Given the description of an element on the screen output the (x, y) to click on. 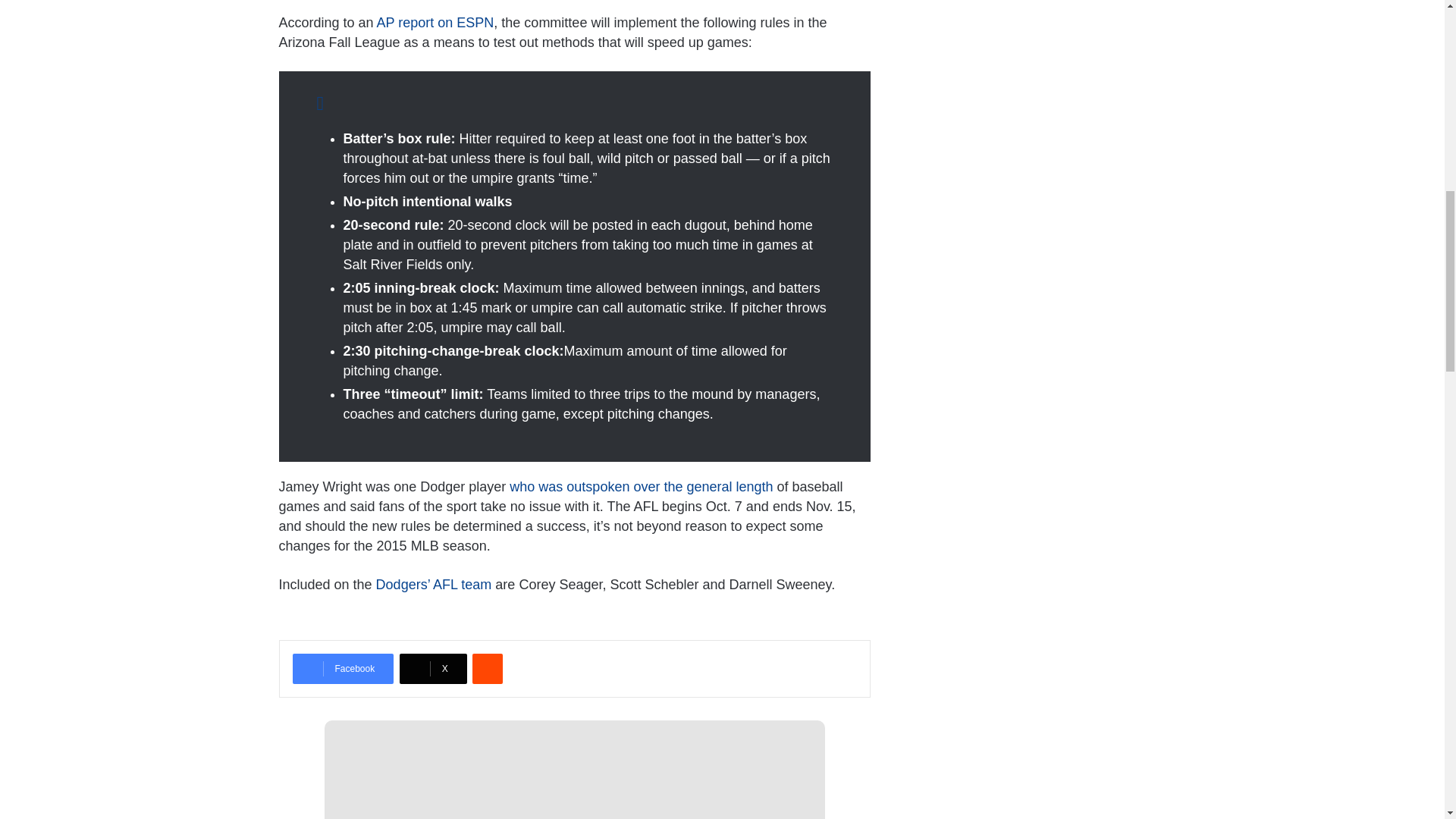
Facebook (343, 668)
Reddit (486, 668)
X (432, 668)
